Given the description of an element on the screen output the (x, y) to click on. 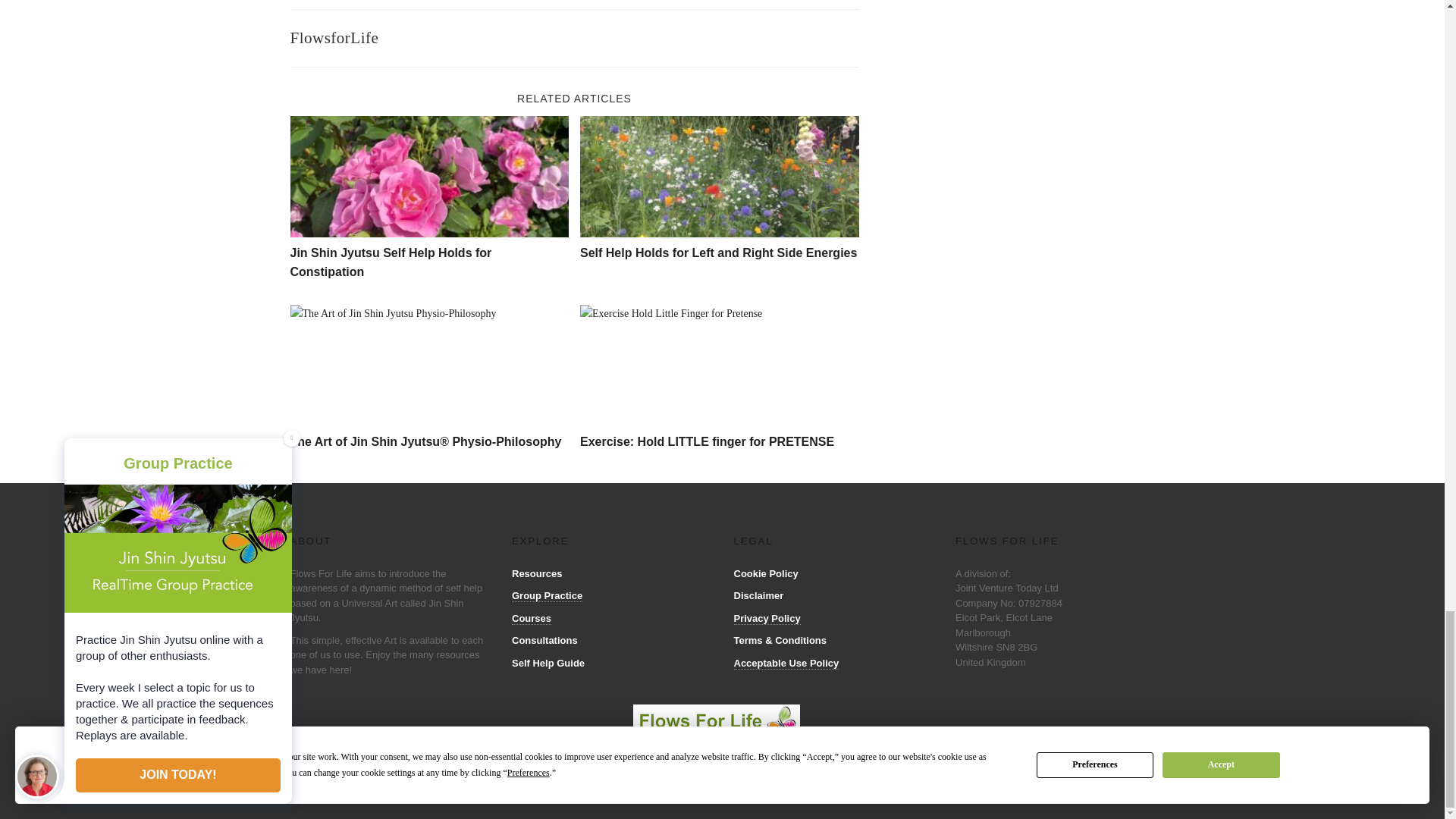
Jin Shin Jyutsu Self Help Holds for Constipation (390, 262)
FlowsforLife (333, 37)
Self Help Holds for Left and Right Side Energies (719, 176)
Jin Shin Jyutsu Self Help Holds for Constipation (429, 176)
